Given the description of an element on the screen output the (x, y) to click on. 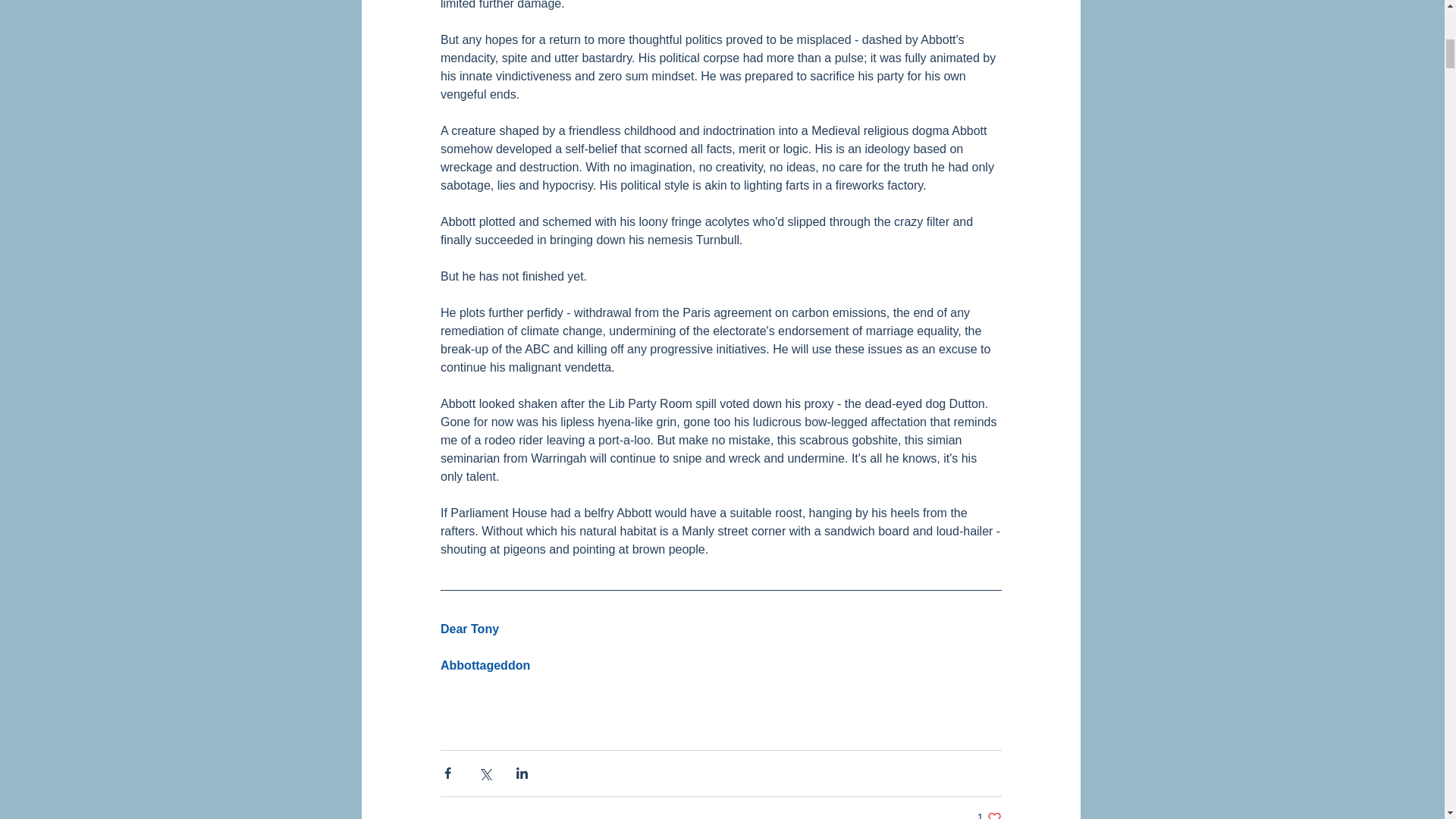
Abbottageddon (988, 814)
Dear Tony (484, 666)
